Given the description of an element on the screen output the (x, y) to click on. 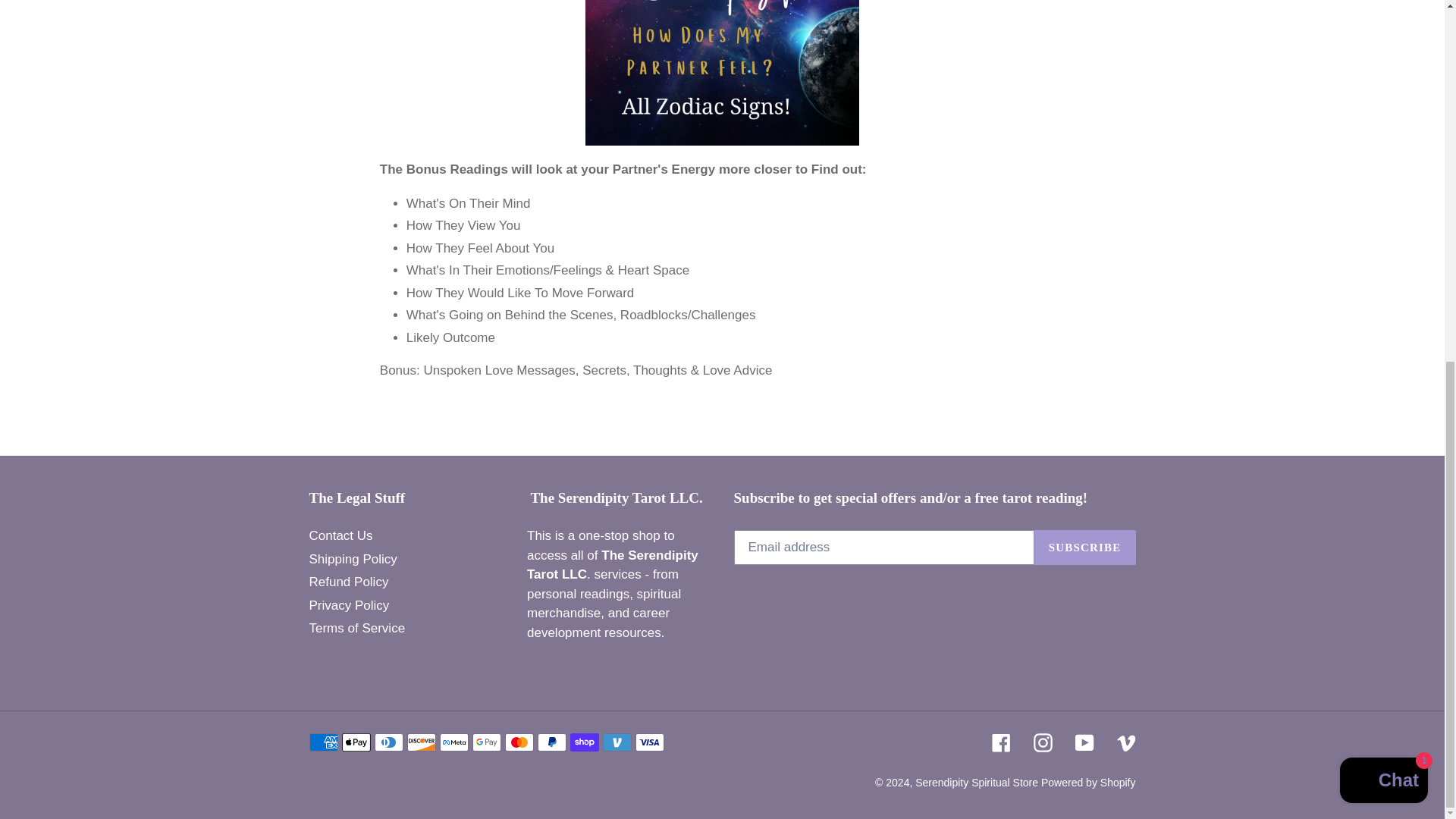
Shopify online store chat (1383, 137)
